Given the description of an element on the screen output the (x, y) to click on. 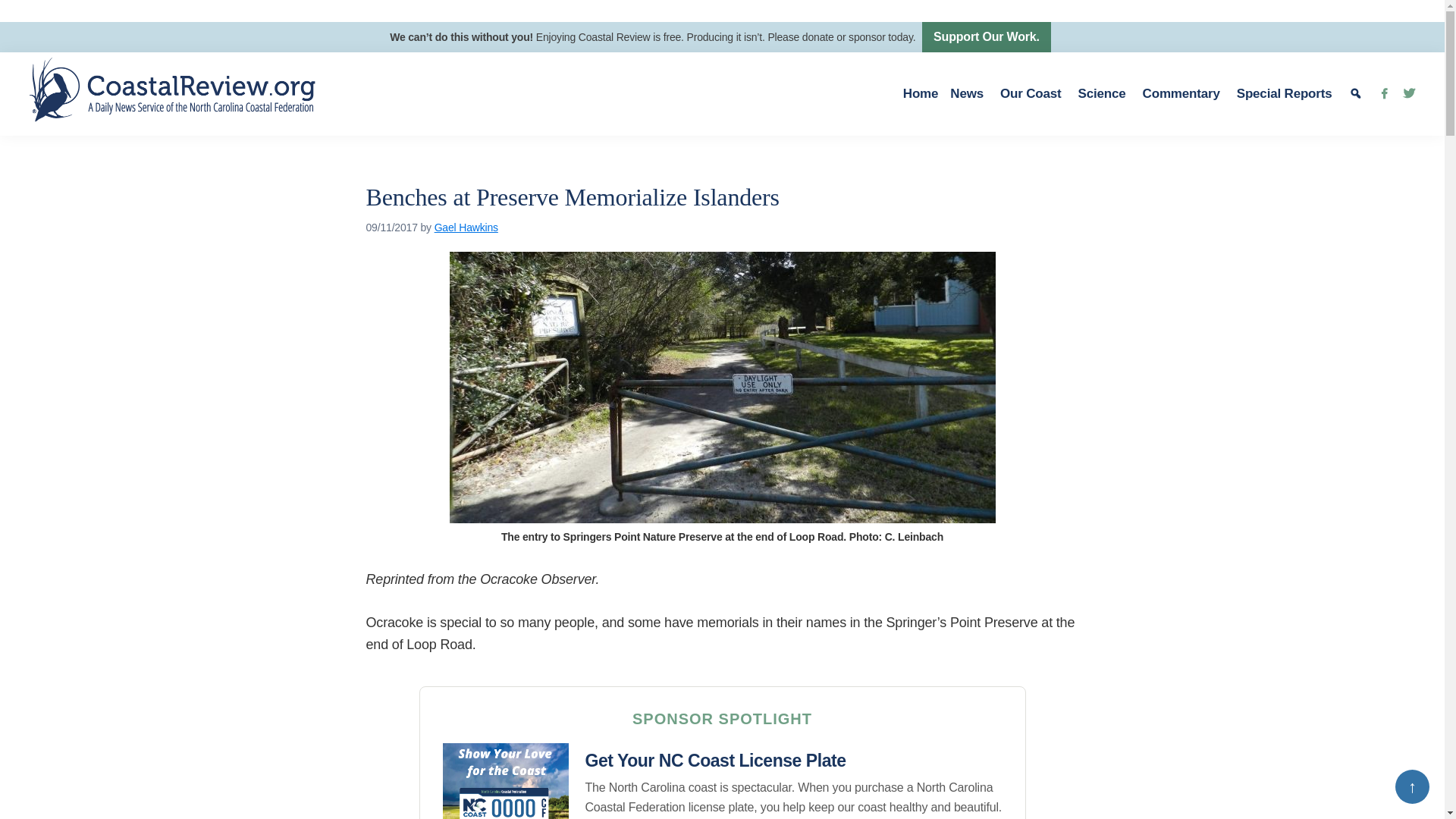
Support Our Work. (986, 37)
News (968, 93)
Home (920, 93)
Our Coast (1032, 93)
Science (1104, 93)
Support Our Work (986, 37)
